Given the description of an element on the screen output the (x, y) to click on. 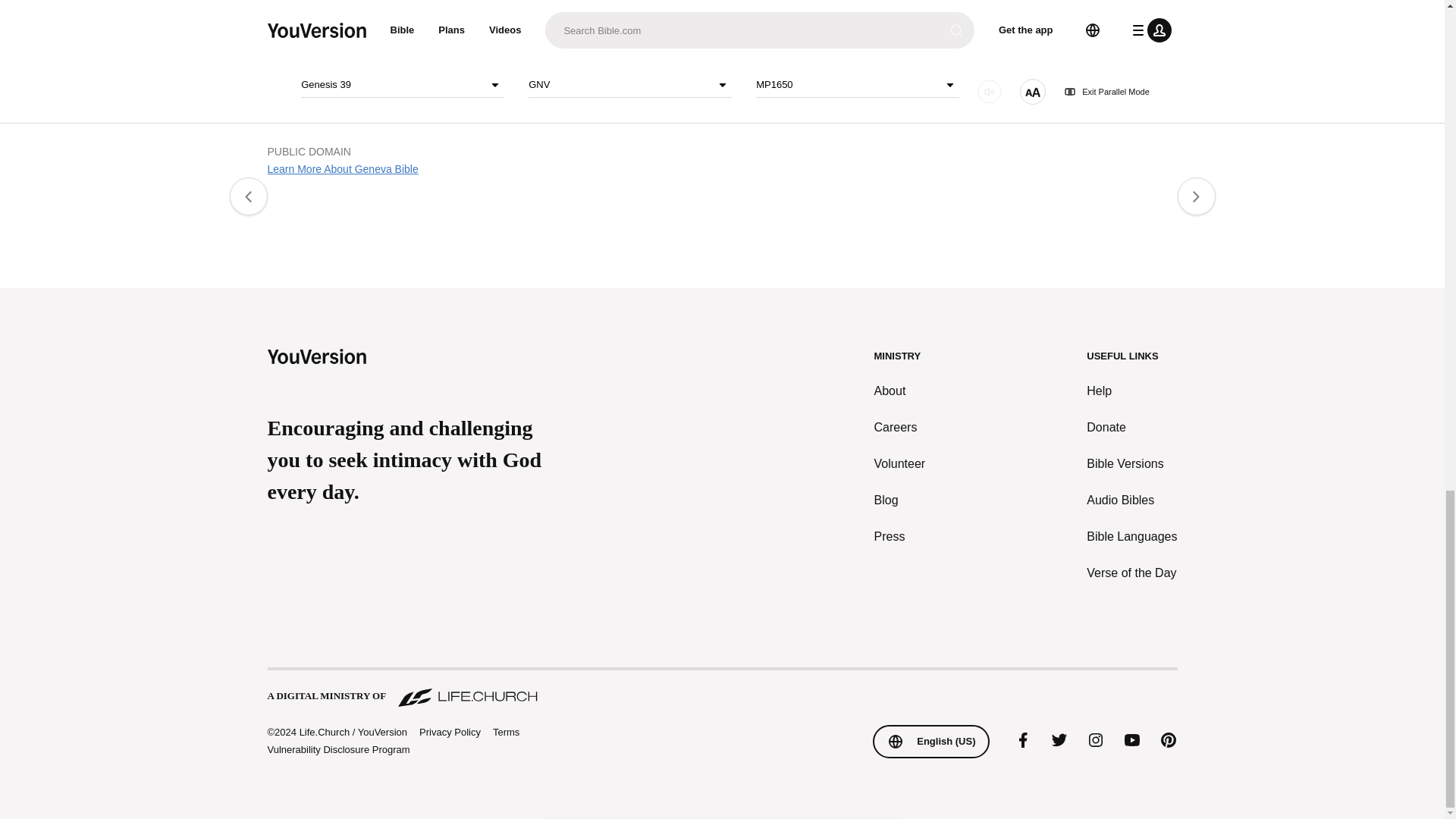
Bible Versions (1131, 464)
Learn More About Geneva Bible (341, 168)
Bible Languages (1131, 536)
Terms (506, 731)
Press (900, 536)
Help (1131, 391)
About (900, 391)
Privacy Policy (449, 732)
Vulnerability Disclosure Program (337, 749)
Blog (900, 500)
